Given the description of an element on the screen output the (x, y) to click on. 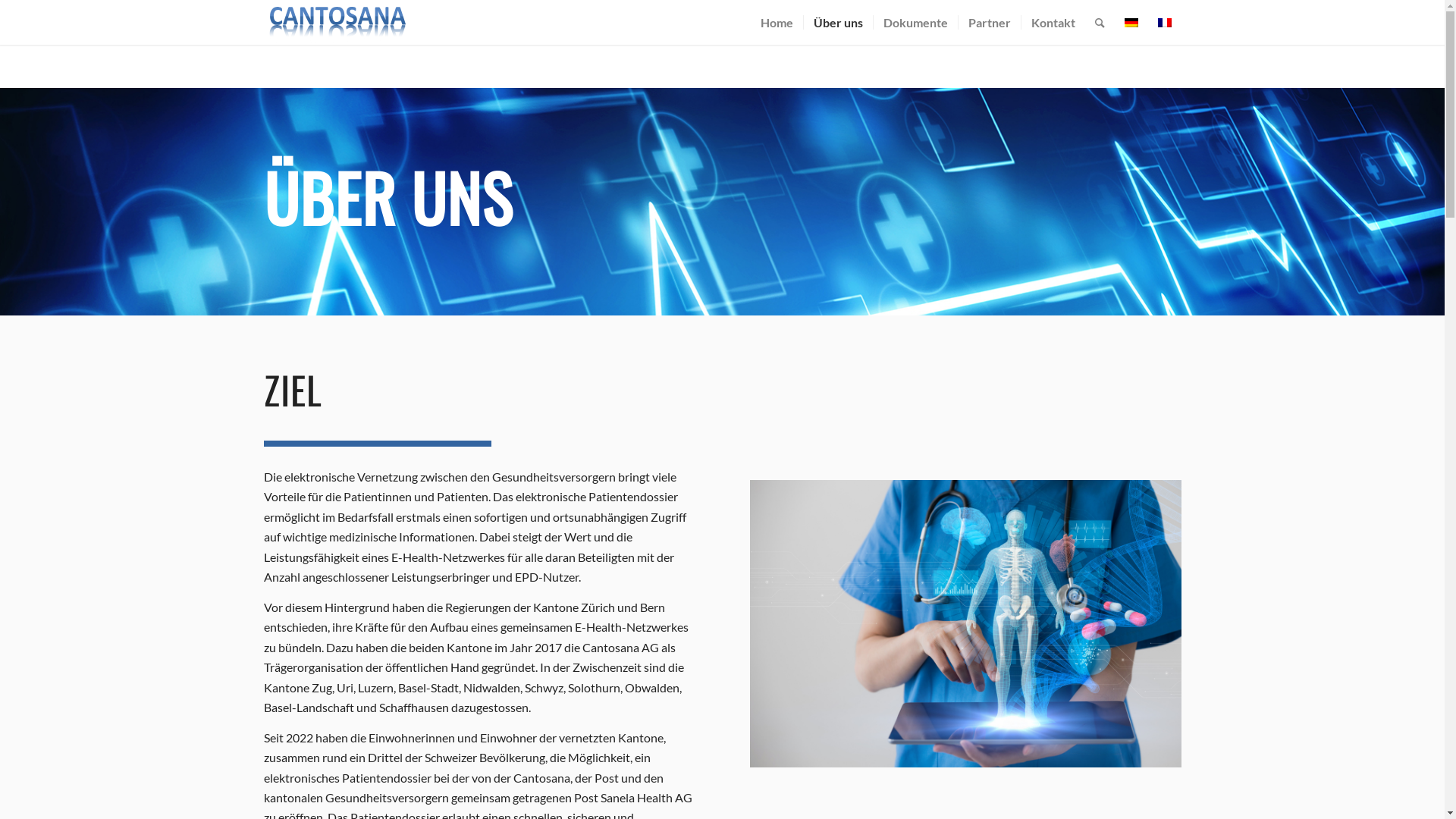
Kontakt Element type: text (1052, 22)
Dokumente Element type: text (914, 22)
Home Element type: text (776, 22)
Partner Element type: text (988, 22)
Deutsch Element type: hover (1130, 22)
